Given the description of an element on the screen output the (x, y) to click on. 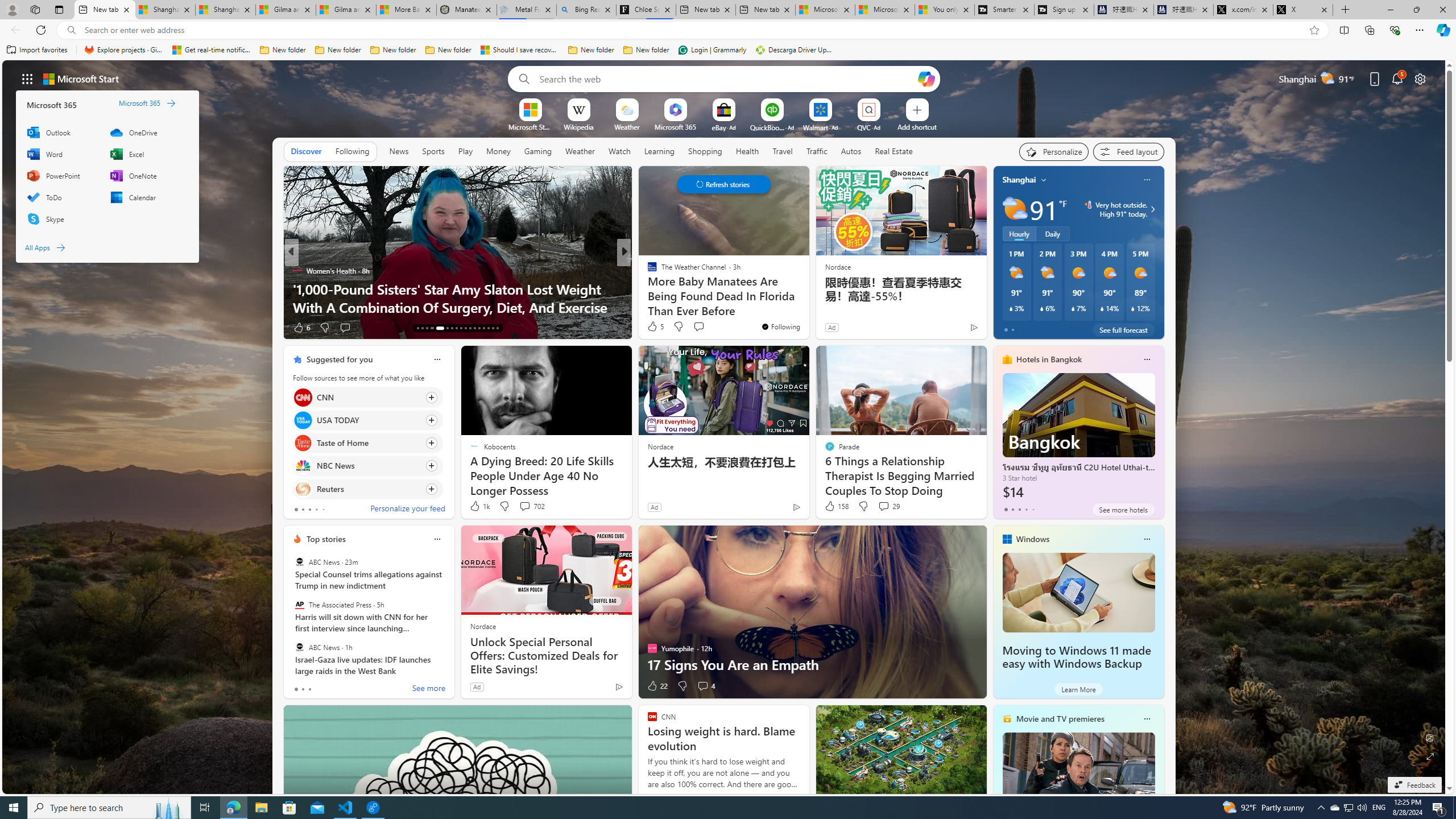
Moving to Windows 11 made easy with Windows Backup (1076, 657)
151 Like (654, 327)
Click to follow source Reuters (367, 488)
Expand background (1430, 756)
Shopping (705, 151)
View comments 247 Comment (703, 327)
AutomationID: backgroundImagePicture (723, 426)
